Given the description of an element on the screen output the (x, y) to click on. 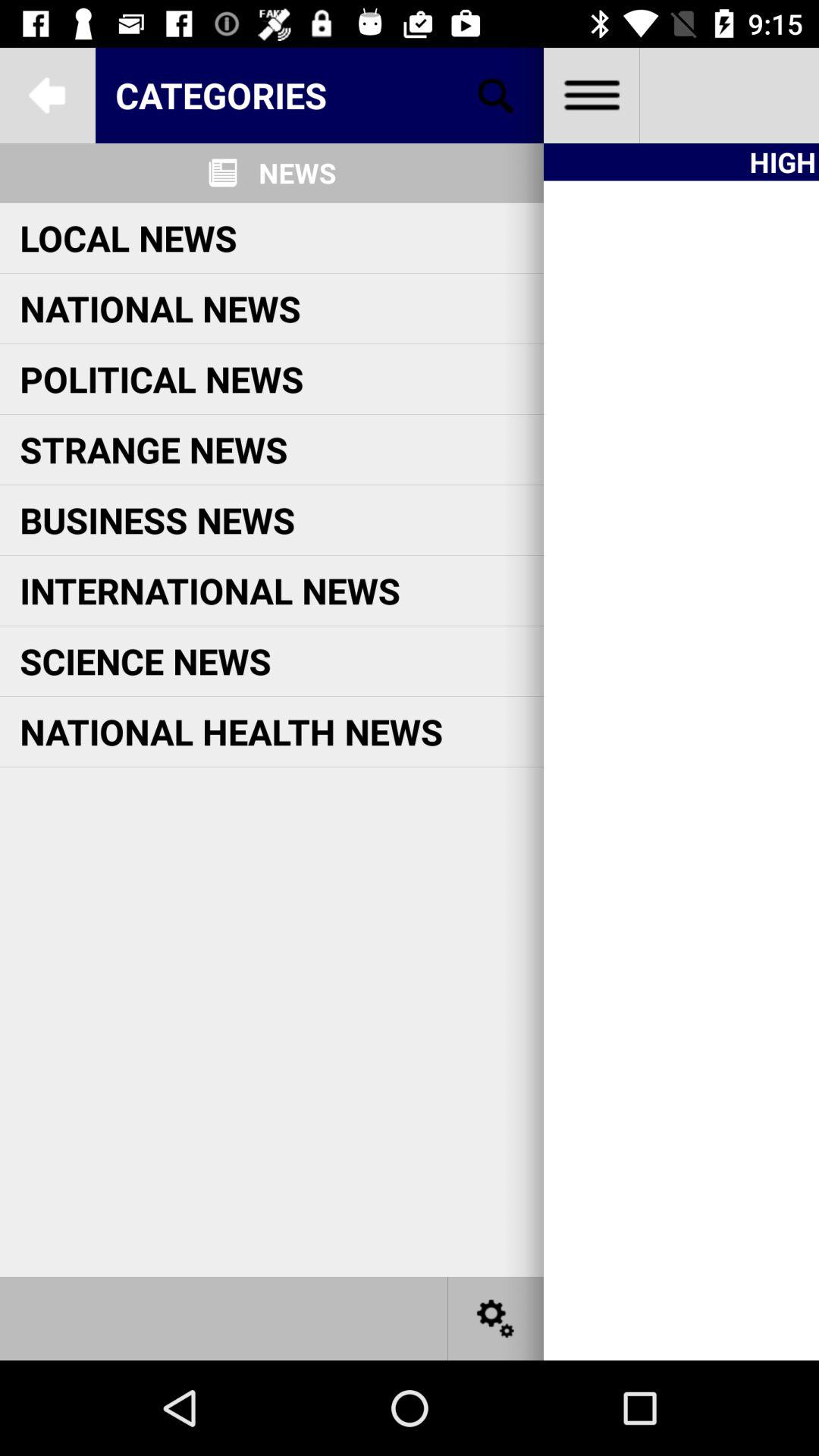
go back (47, 95)
